Given the description of an element on the screen output the (x, y) to click on. 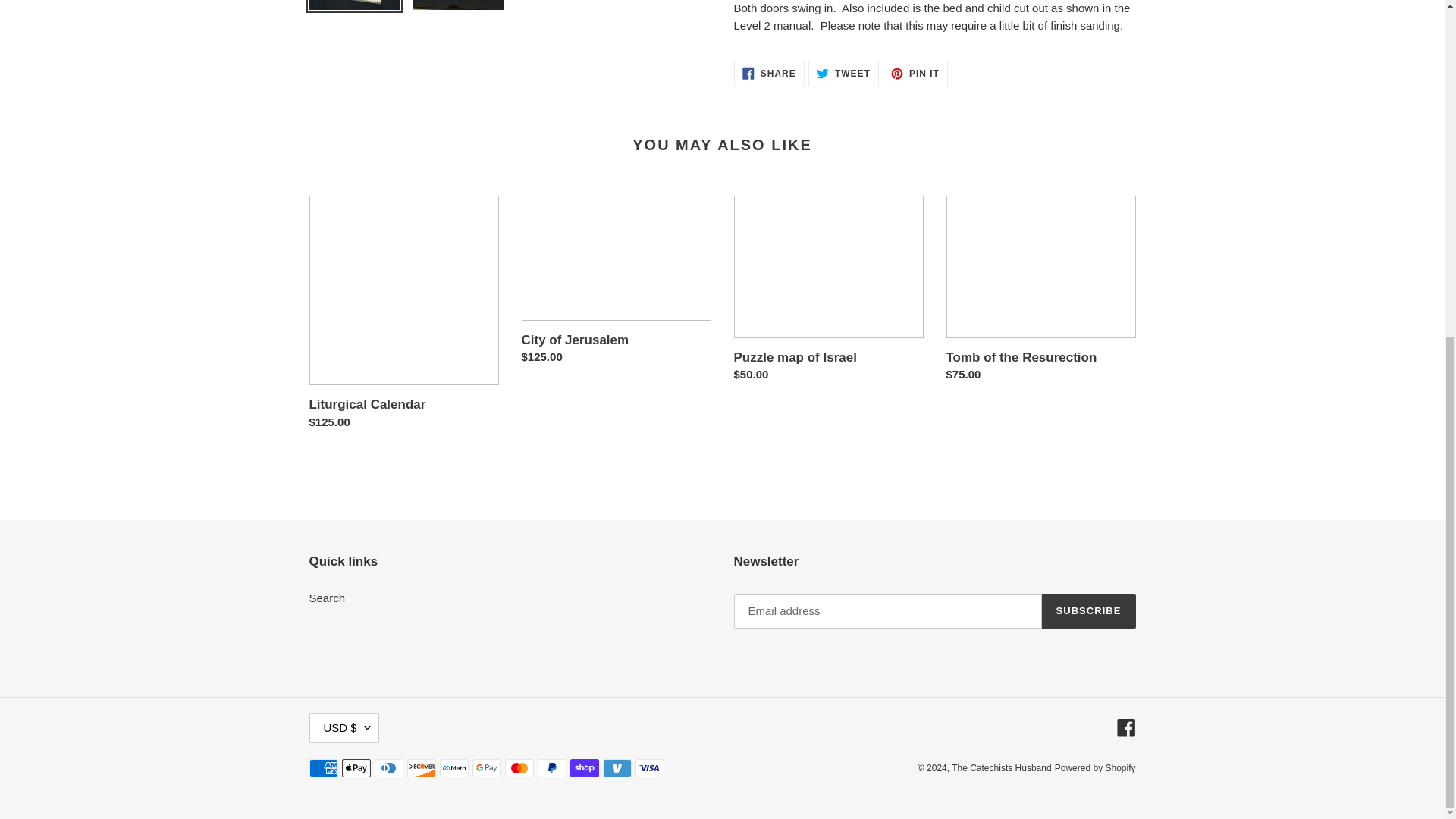
Liturgical Calendar (769, 73)
